Given the description of an element on the screen output the (x, y) to click on. 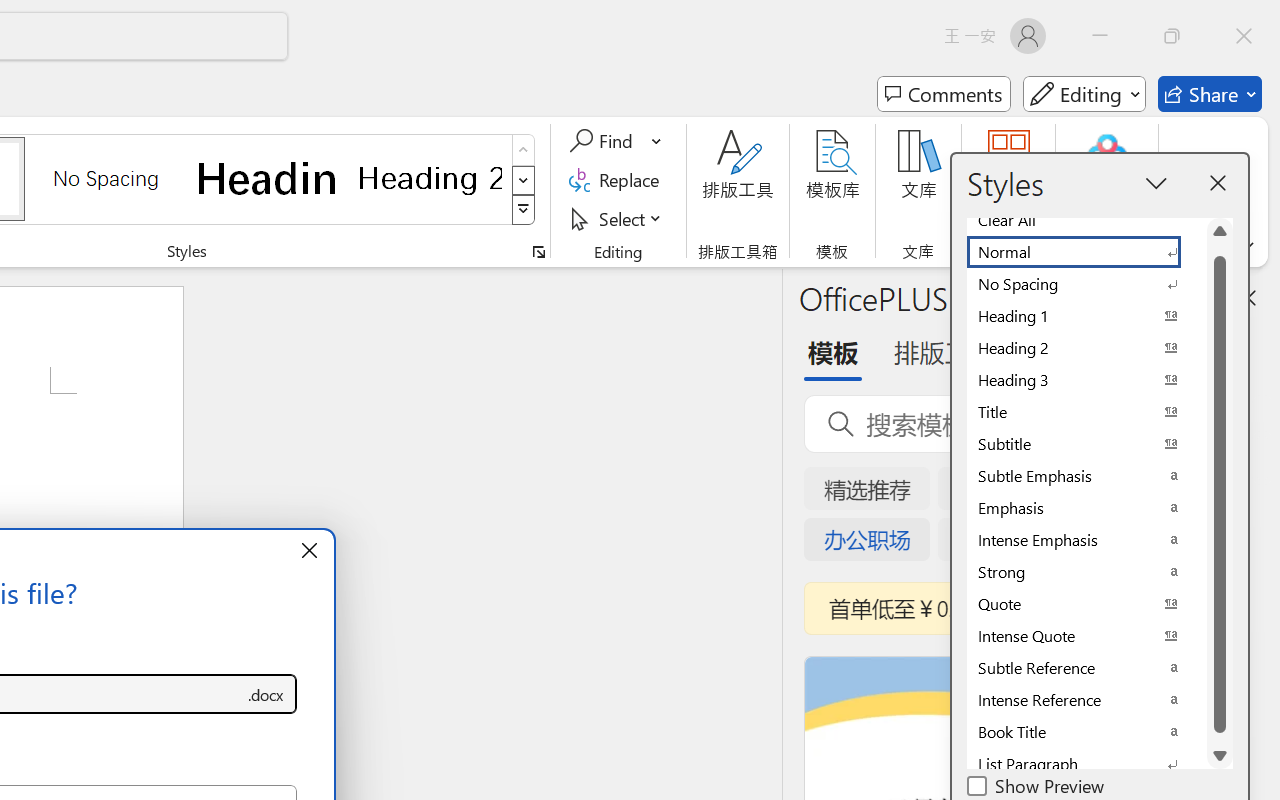
Restore Down (1172, 36)
Subtitle (1086, 443)
Title (1086, 412)
Ribbon Display Options (1246, 245)
Strong (1086, 572)
Quote (1086, 604)
Heading 3 (1086, 380)
Intense Quote (1086, 636)
Row up (523, 150)
